Given the description of an element on the screen output the (x, y) to click on. 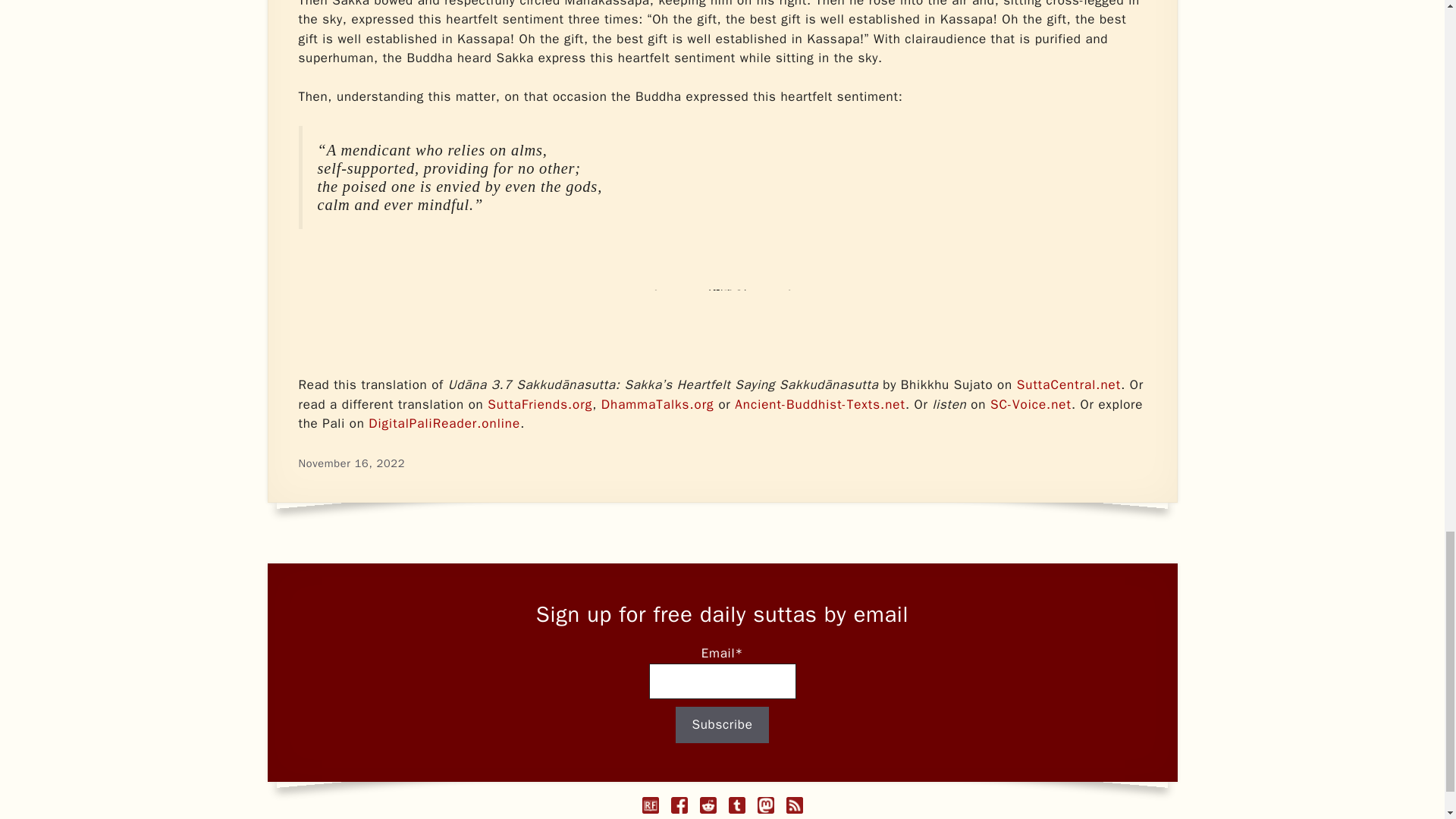
SC-Voice.net (1030, 404)
DigitalPaliReader.online (443, 423)
Subscribe (721, 724)
SuttaCentral.net (1068, 384)
SuttaFriends.org (539, 404)
Ancient-Buddhist-Texts.net (820, 404)
DhammaTalks.org (657, 404)
Subscribe (721, 724)
